Given the description of an element on the screen output the (x, y) to click on. 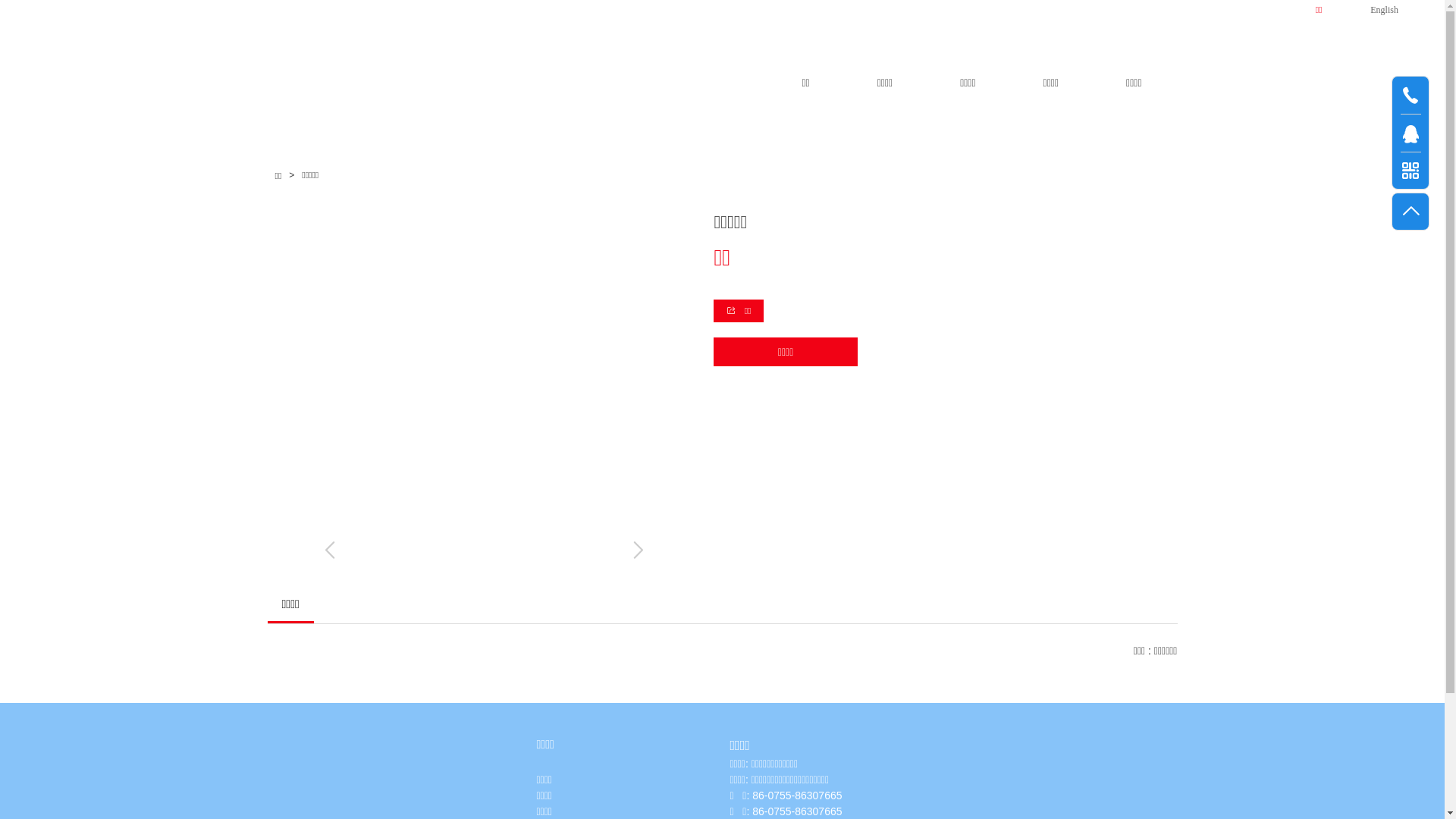
English Element type: text (1367, 9)
